Given the description of an element on the screen output the (x, y) to click on. 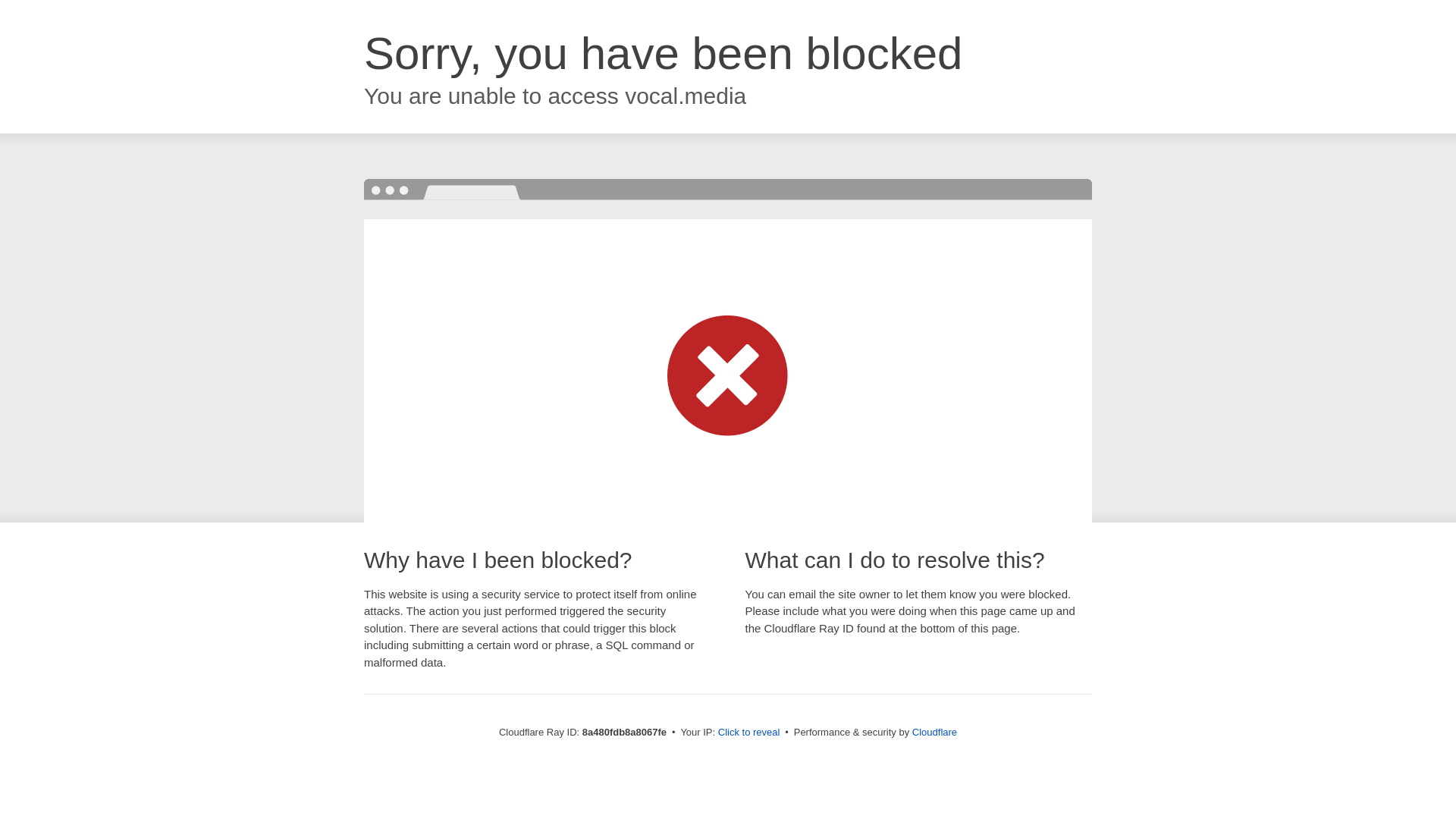
Click to reveal (748, 732)
Cloudflare (934, 731)
